Given the description of an element on the screen output the (x, y) to click on. 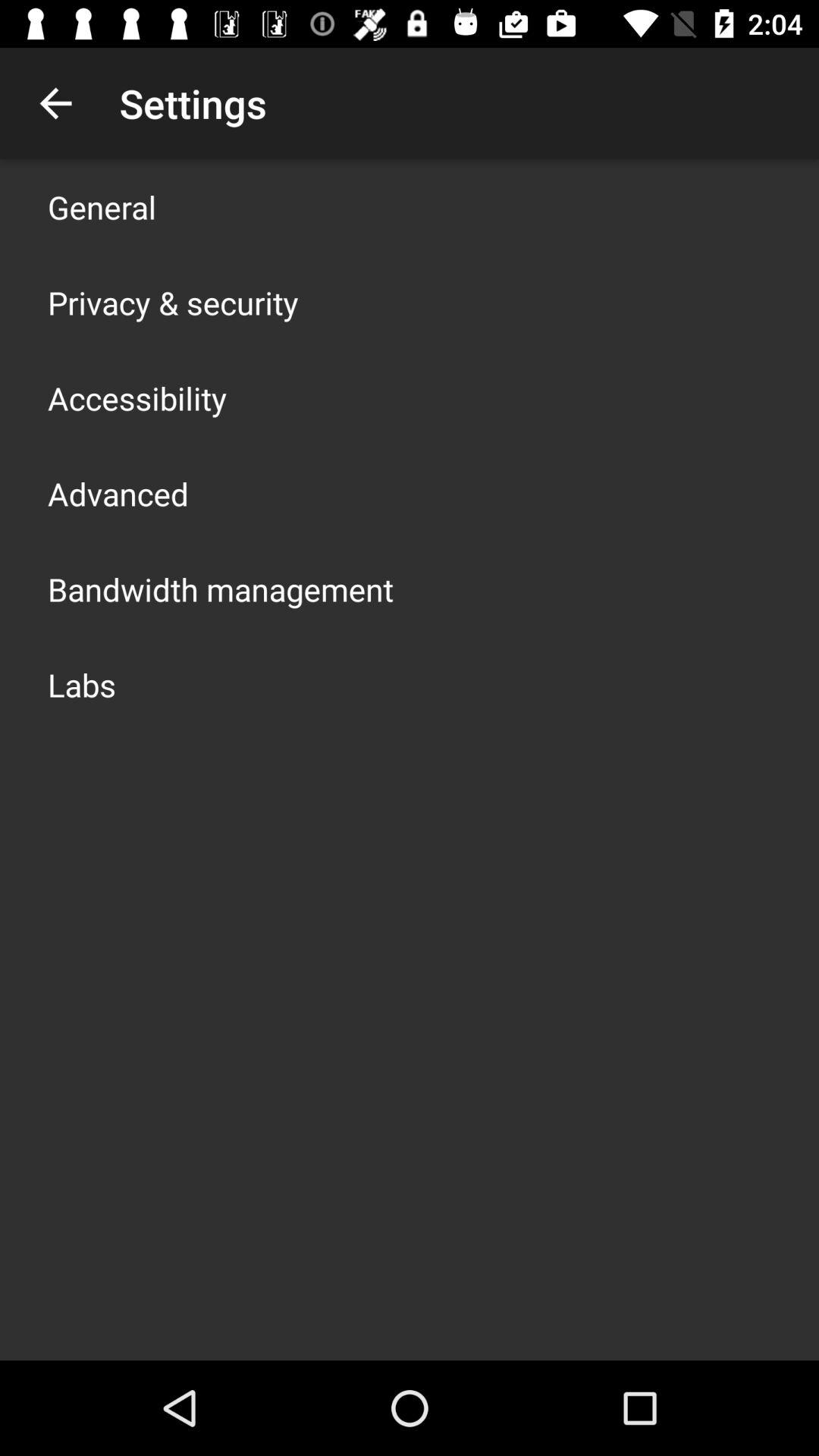
click advanced icon (117, 493)
